Given the description of an element on the screen output the (x, y) to click on. 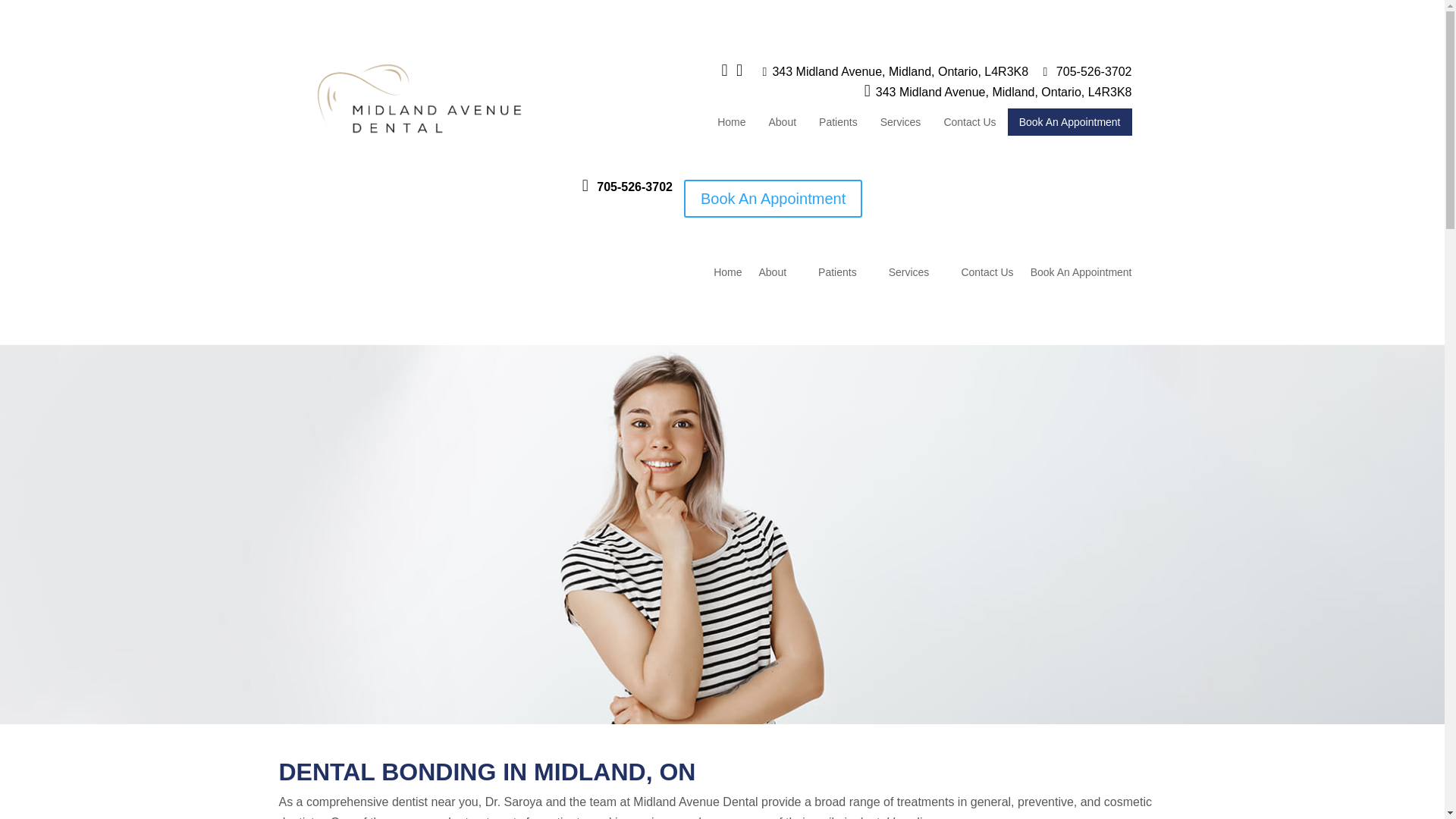
About (782, 121)
Facebook (729, 71)
Home (731, 121)
Patients (838, 121)
343 Midland Avenue, Midland, Ontario, L4R3K8 (998, 91)
Services (901, 121)
Instagram (743, 71)
705-526-3702 (1087, 71)
343 Midland Avenue, Midland, Ontario, L4R3K8 (895, 71)
